Given the description of an element on the screen output the (x, y) to click on. 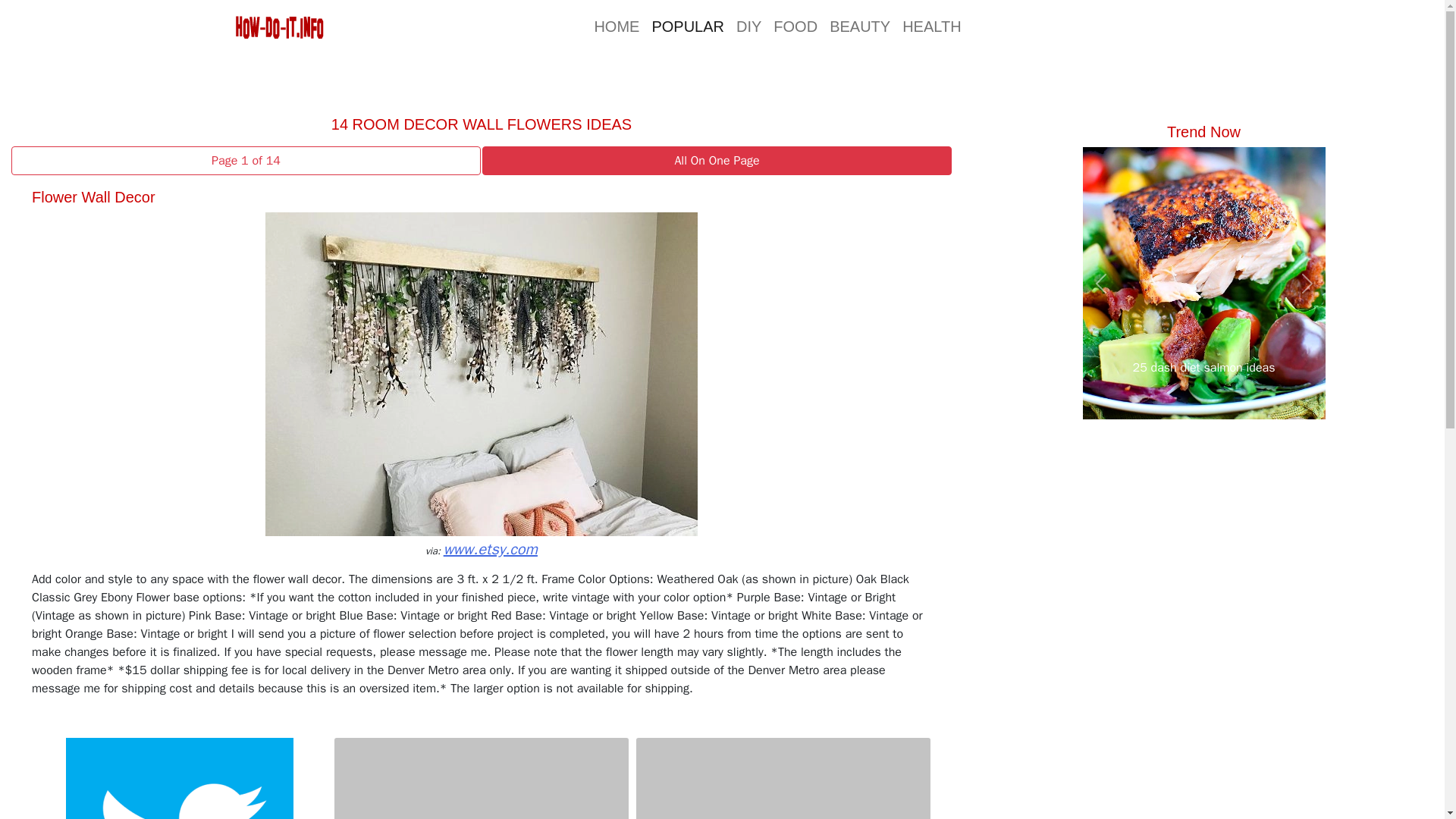
POPULAR (687, 26)
FOOD (795, 26)
All On One Page (716, 160)
BEAUTY (860, 26)
25 dash diet salmon ideas (1203, 367)
www.etsy.com (490, 548)
HOME (616, 26)
HEALTH (931, 26)
